Given the description of an element on the screen output the (x, y) to click on. 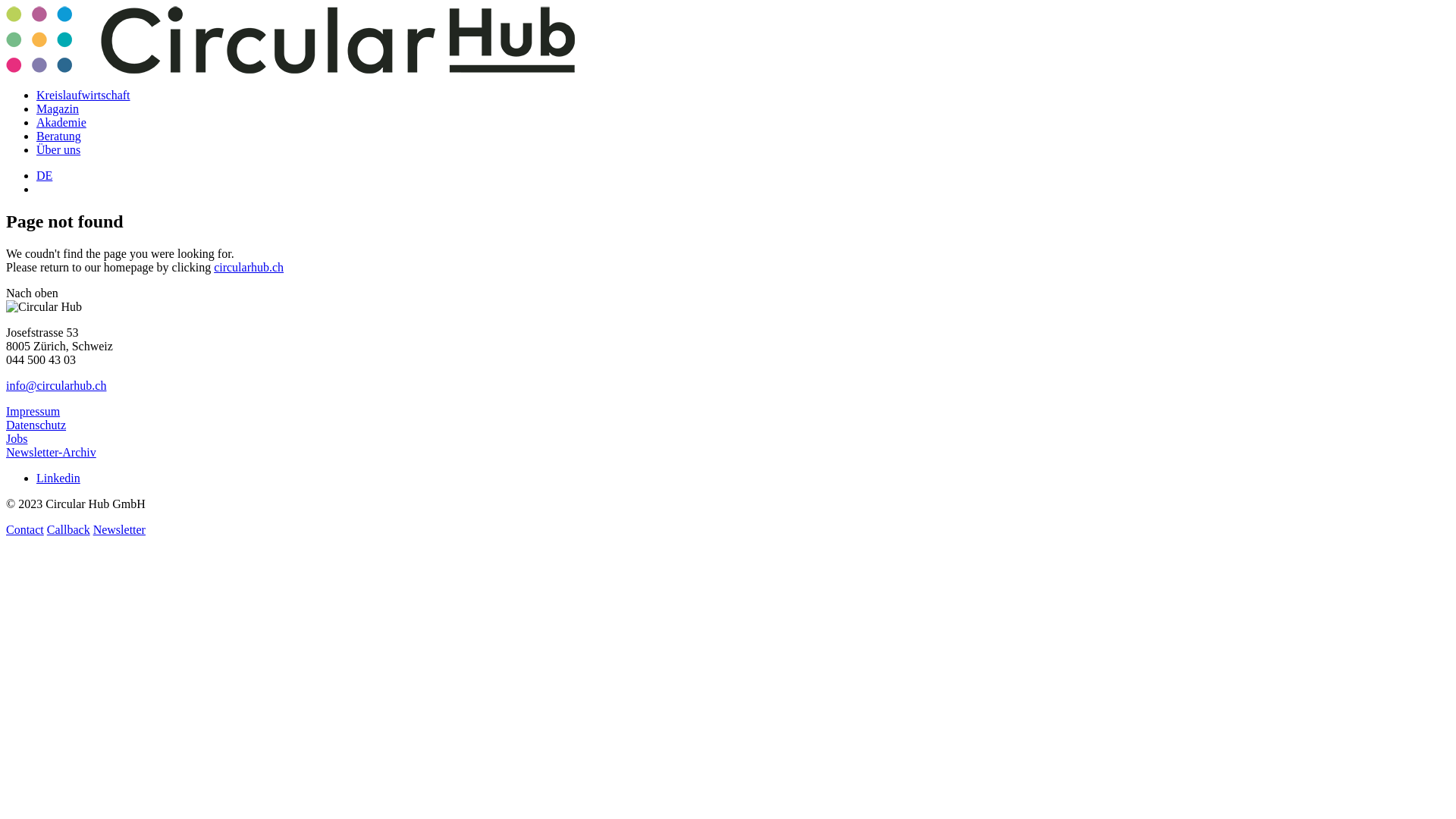
Kreislaufwirtschaft Element type: text (83, 94)
Akademie Element type: text (61, 122)
Contact Element type: text (24, 529)
Jobs Element type: text (16, 438)
Linkedin Element type: text (58, 477)
circularhub.ch Element type: text (248, 266)
info@circularhub.ch Element type: text (56, 385)
DE Element type: text (44, 175)
Impressum Element type: text (32, 410)
Newsletter-Archiv Element type: text (51, 451)
Newsletter Element type: text (119, 529)
Datenschutz Element type: text (35, 424)
Magazin Element type: text (57, 108)
Beratung Element type: text (58, 135)
Callback Element type: text (68, 529)
